Given the description of an element on the screen output the (x, y) to click on. 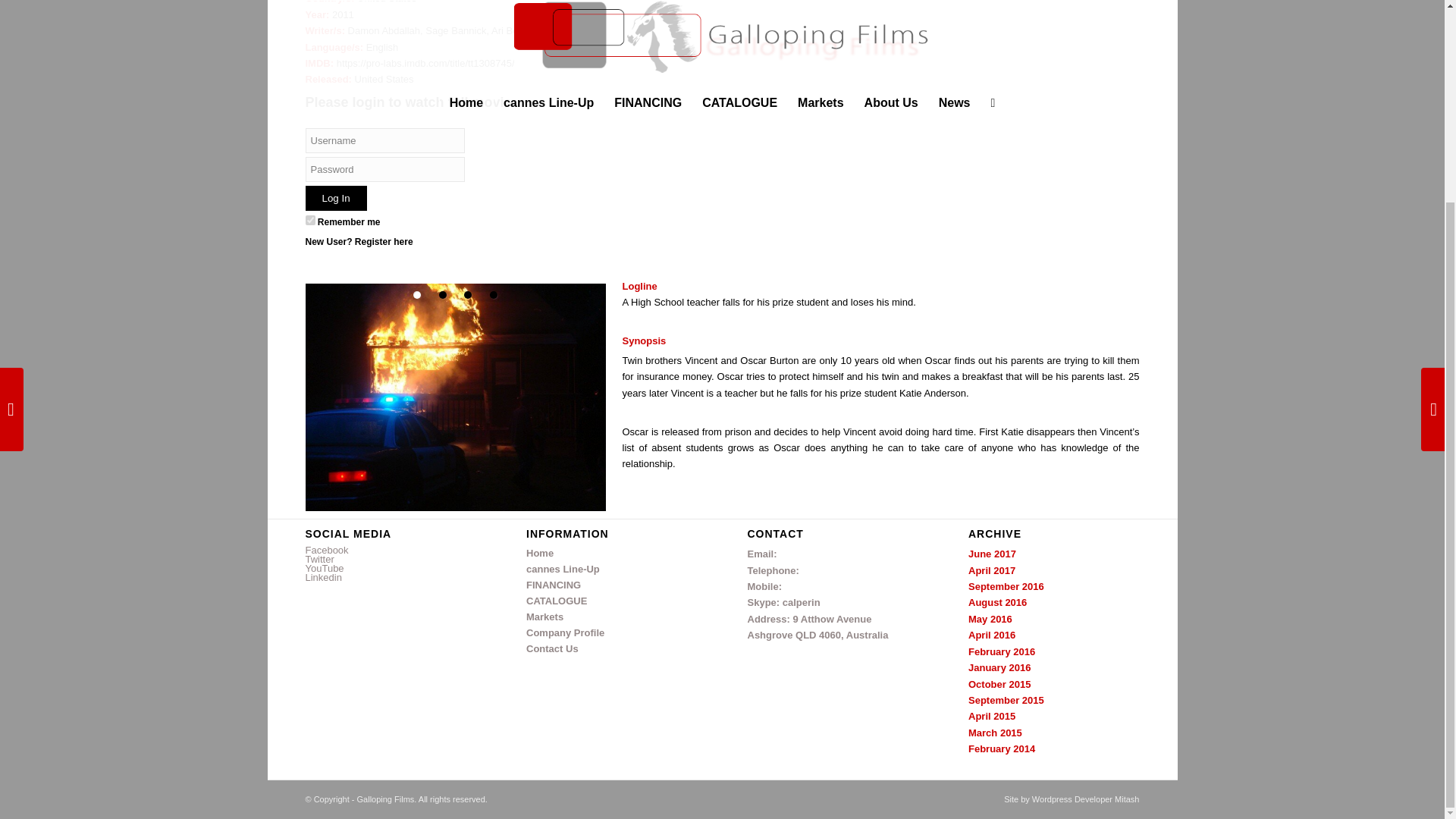
Log In (335, 197)
forever (309, 220)
Home (611, 553)
CATALOGUE (611, 601)
Contact Us (611, 649)
cannes Line-Up (611, 569)
Log In (335, 197)
Company Profile (611, 633)
FINANCING (611, 585)
Markets (611, 617)
here (402, 241)
